Given the description of an element on the screen output the (x, y) to click on. 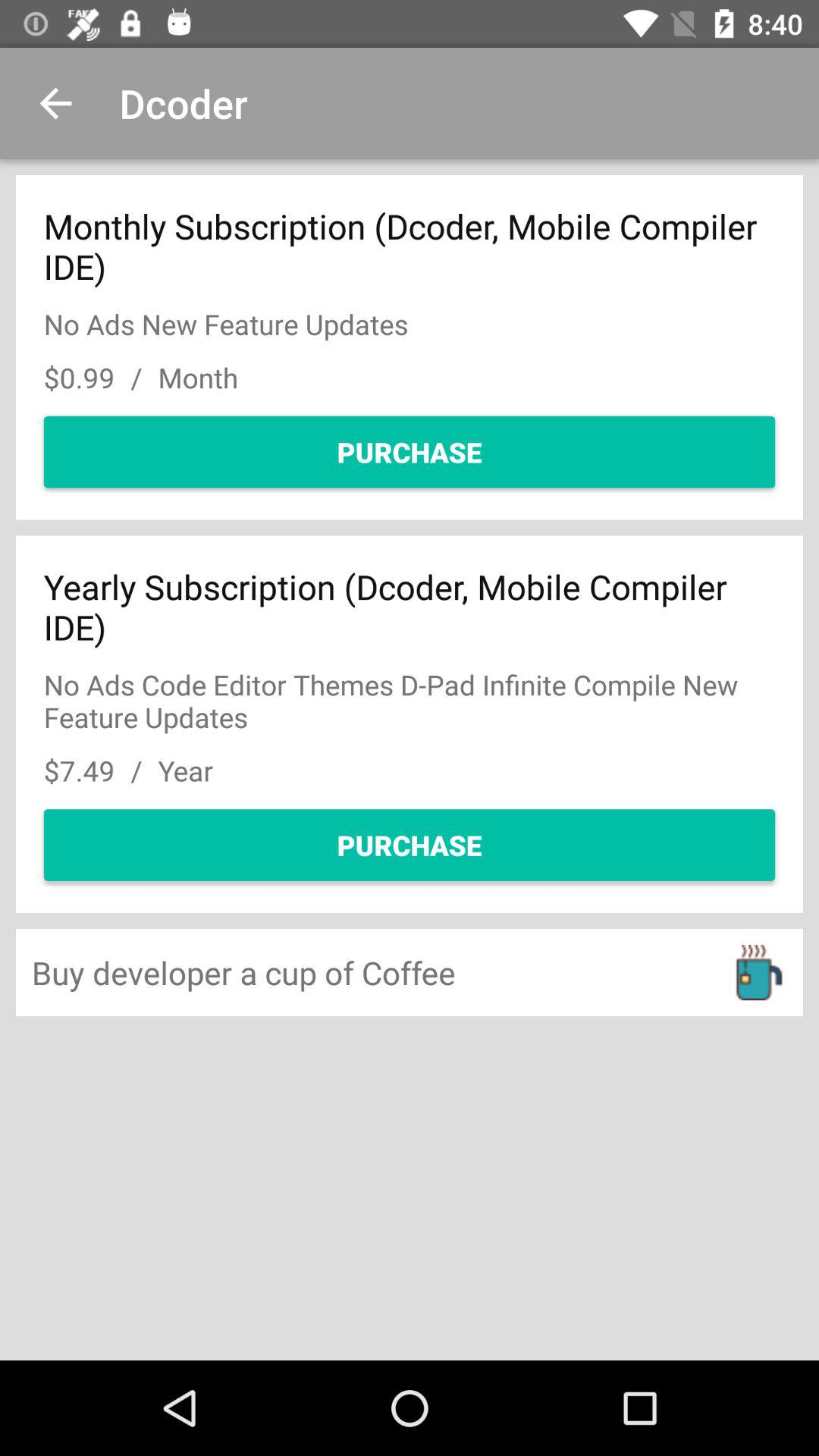
move to the icon at the right bottom corner of the page (759, 972)
click on the button below 099 month (409, 451)
